Given the description of an element on the screen output the (x, y) to click on. 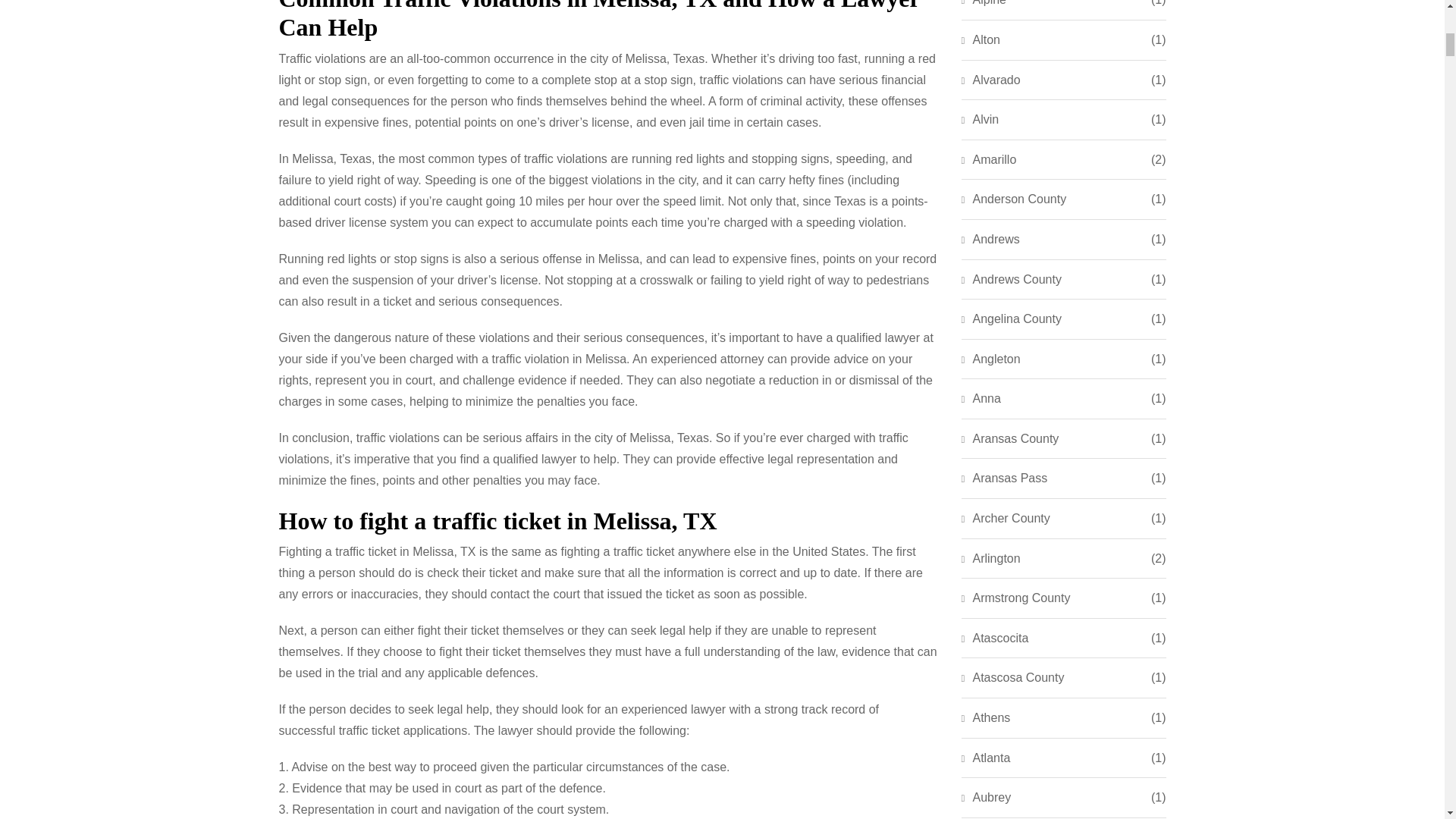
Andrews (990, 239)
Alvarado (990, 80)
Alton (980, 39)
Anderson County (1013, 199)
Amarillo (988, 159)
Alvin (979, 119)
Alpine (983, 4)
